Given the description of an element on the screen output the (x, y) to click on. 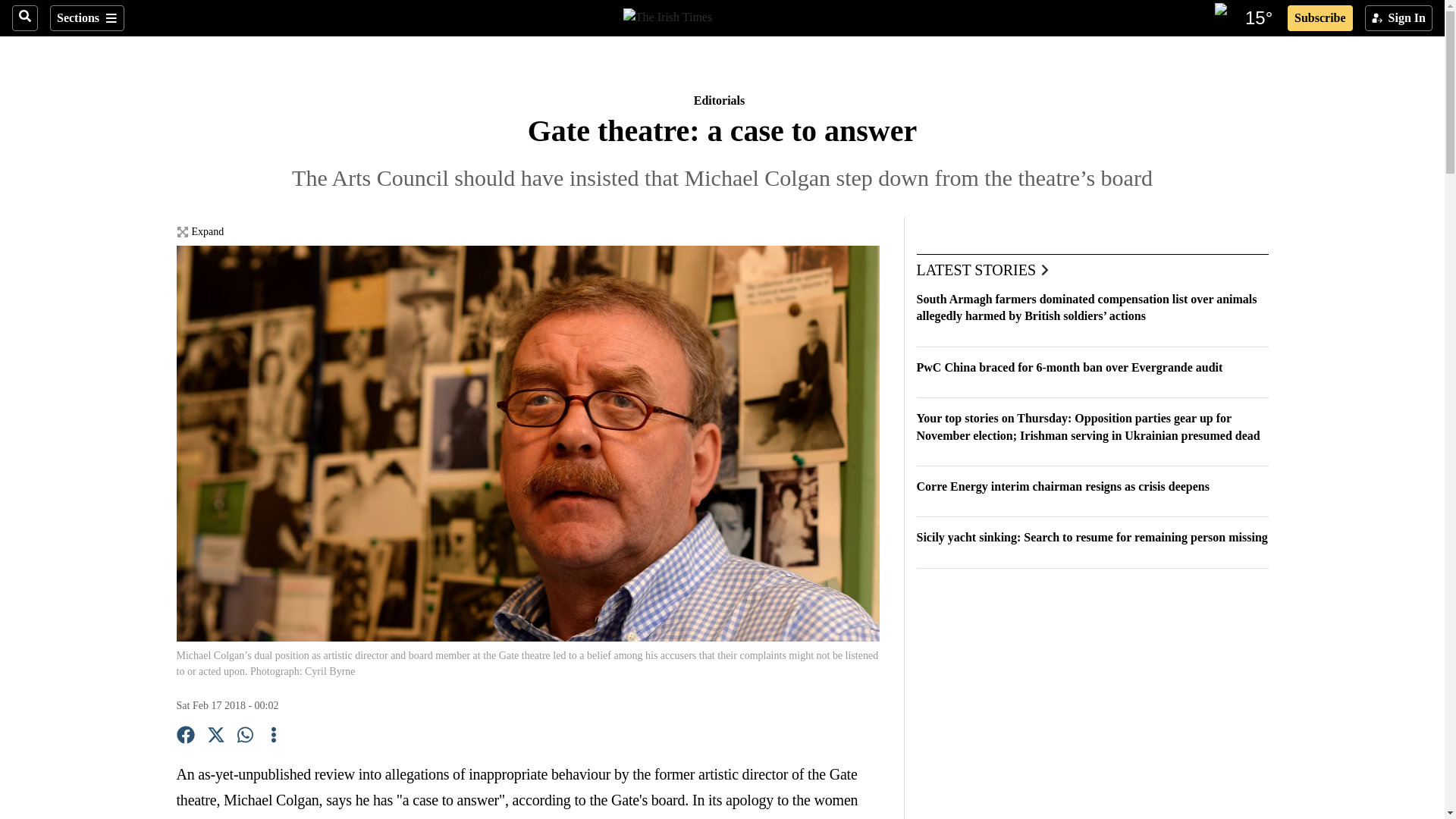
Sign In (1398, 17)
The Irish Times (667, 15)
Sections (86, 17)
Subscribe (1319, 17)
